Given the description of an element on the screen output the (x, y) to click on. 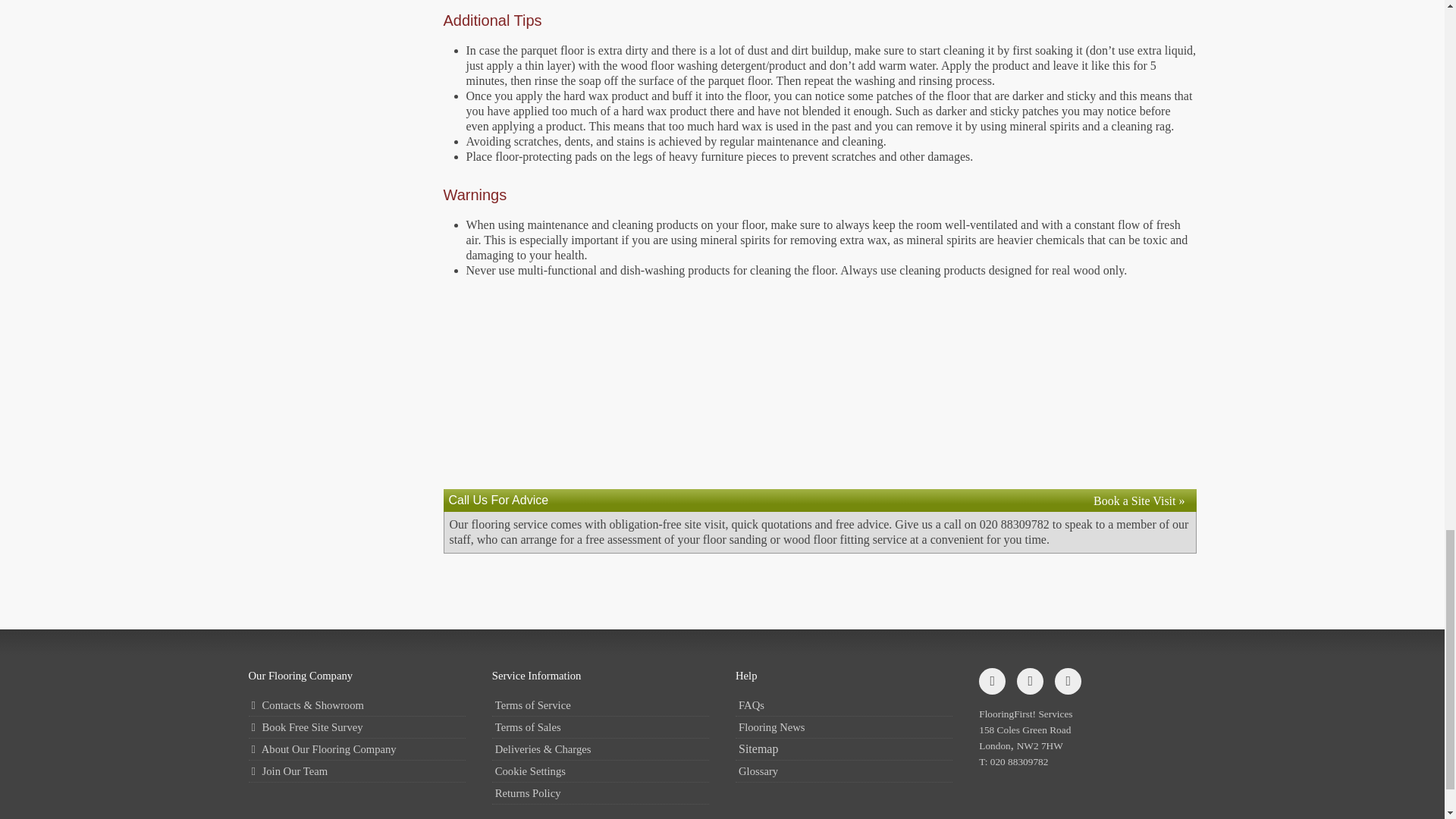
Book Free Site Survey (356, 727)
Flooring Delivery (600, 749)
Conditions of Sales (600, 727)
Sitemap f11 (843, 749)
News (843, 727)
Conditions of Service (600, 705)
Frequently Asked Questions (843, 705)
Book Floor Sanding or Fitting Service (1139, 500)
Cookie Settings (600, 771)
About Our Flooring Services (356, 749)
